Given the description of an element on the screen output the (x, y) to click on. 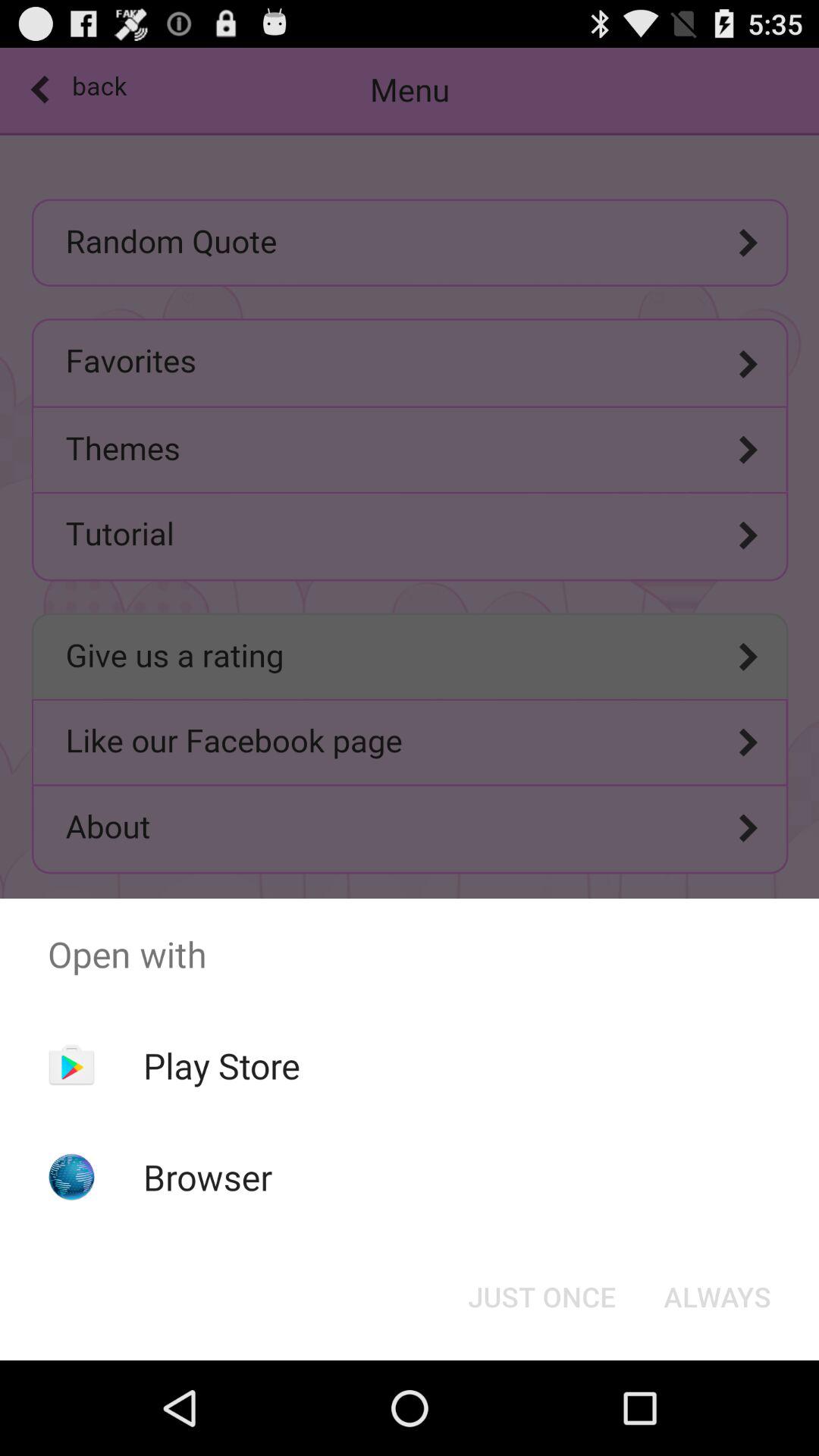
turn on the just once item (541, 1296)
